Given the description of an element on the screen output the (x, y) to click on. 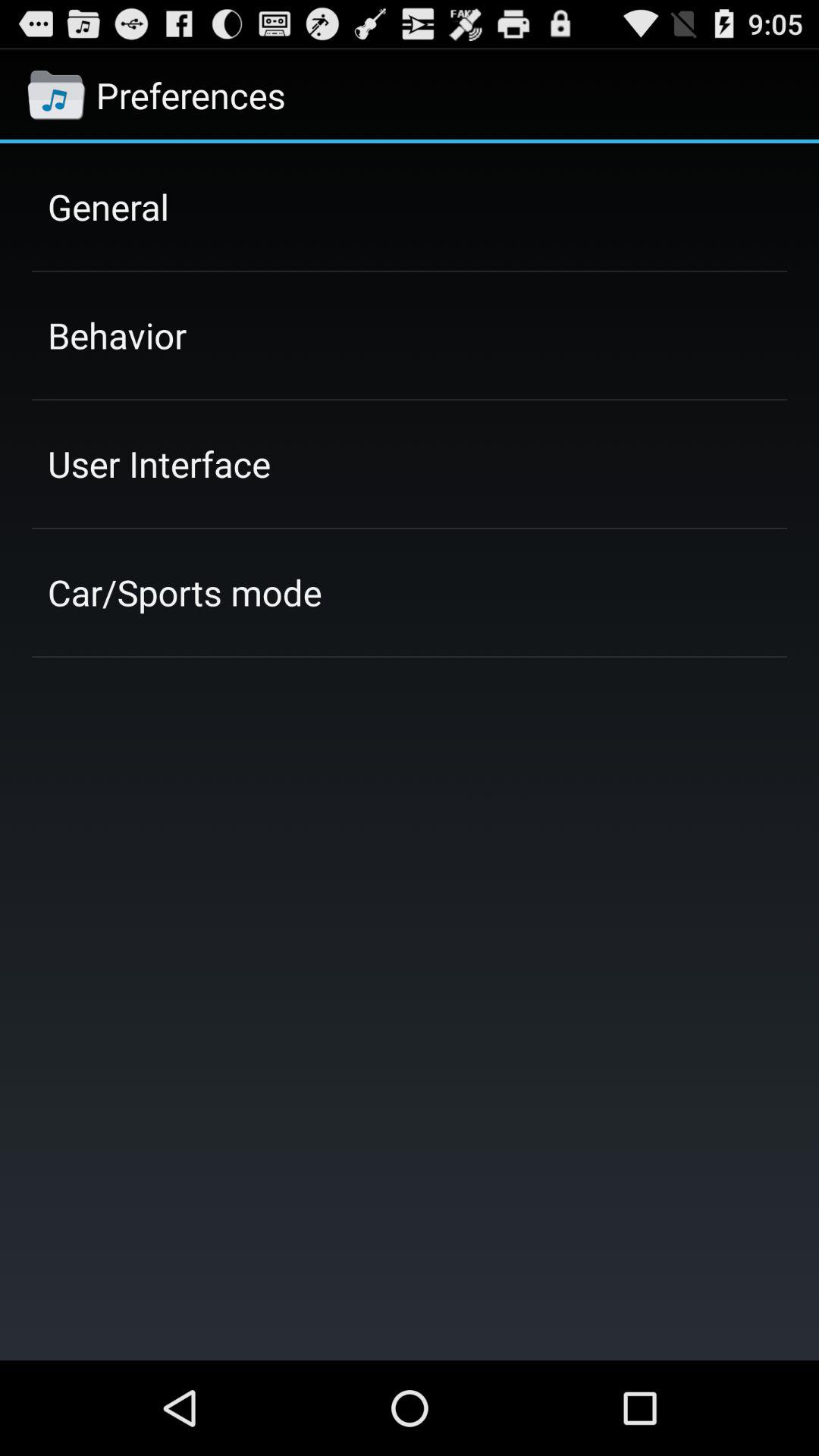
click item on the left (184, 592)
